Given the description of an element on the screen output the (x, y) to click on. 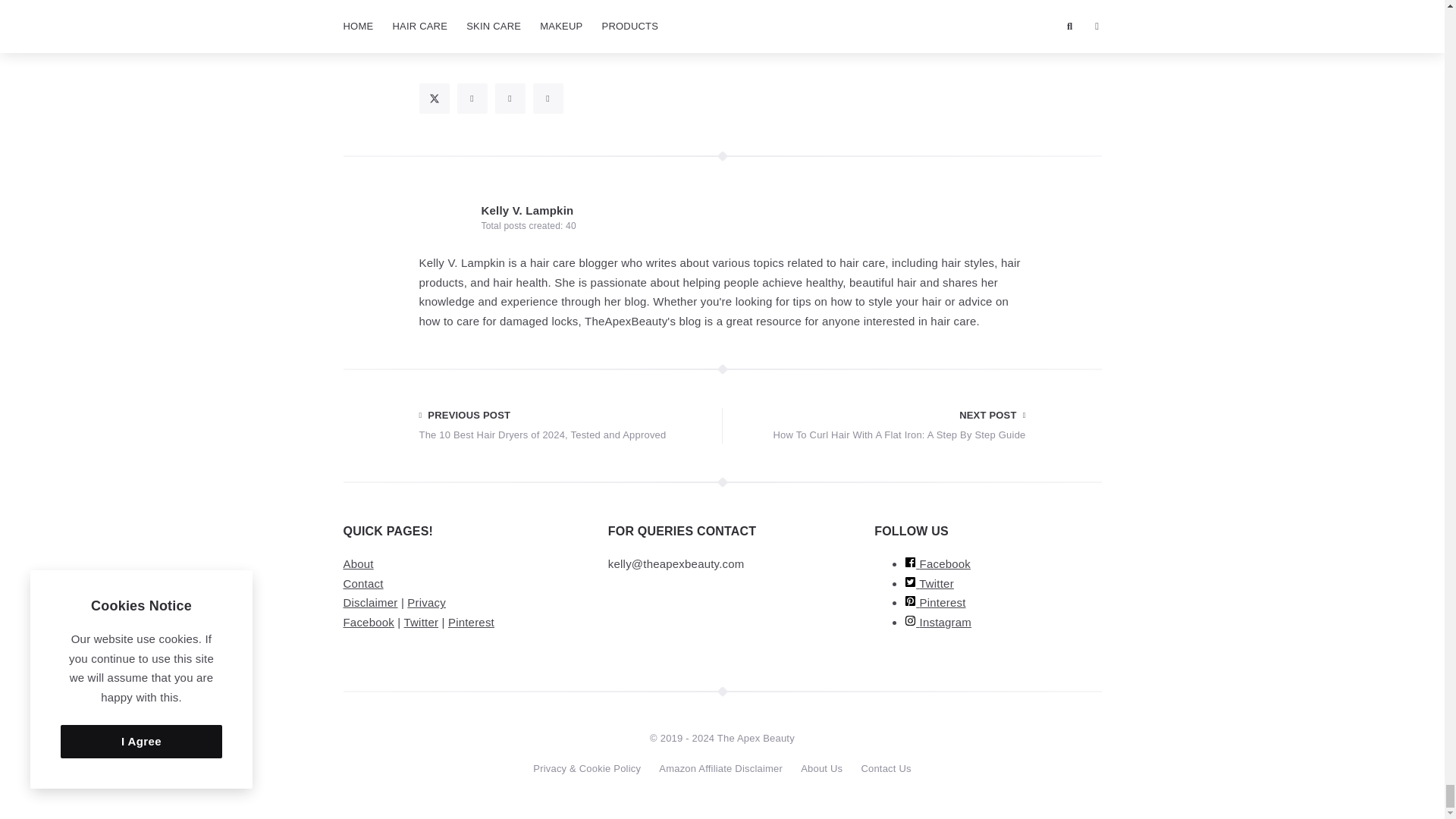
Share on Reddit (547, 98)
Share on Facebook (471, 98)
Share on Twitter X (433, 98)
Share on Pinterest (509, 98)
